Given the description of an element on the screen output the (x, y) to click on. 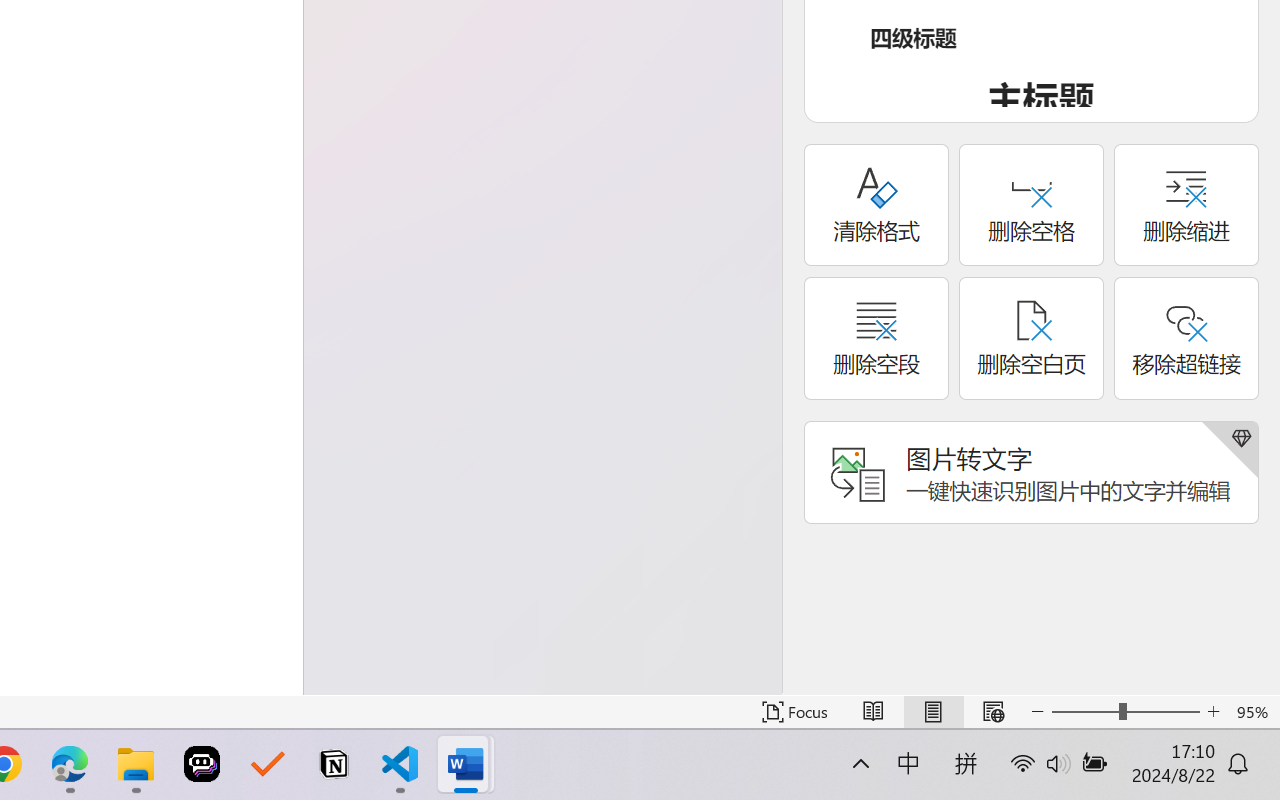
Zoom 95% (1253, 712)
